Given the description of an element on the screen output the (x, y) to click on. 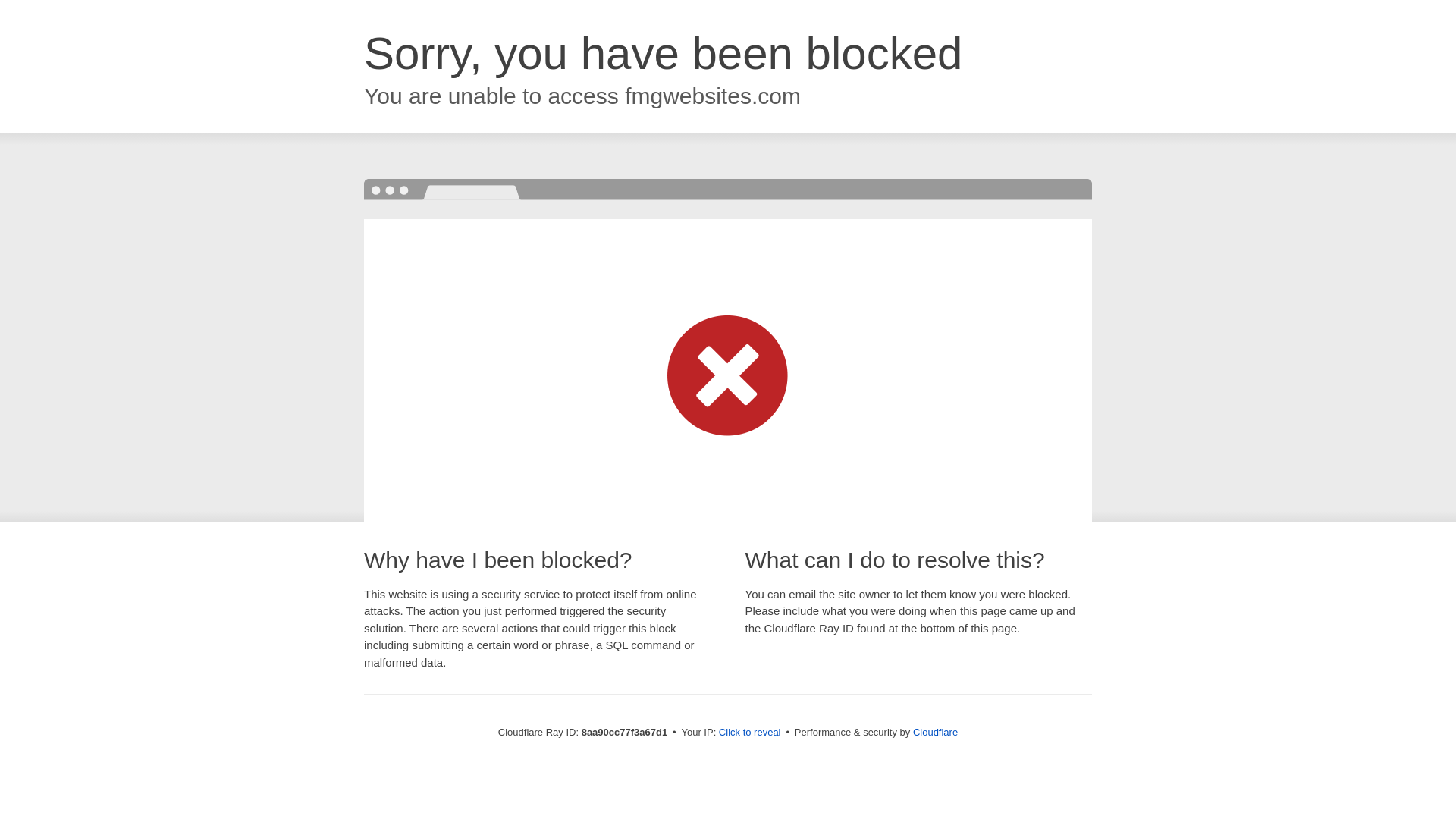
Cloudflare (935, 731)
Click to reveal (749, 732)
